Given the description of an element on the screen output the (x, y) to click on. 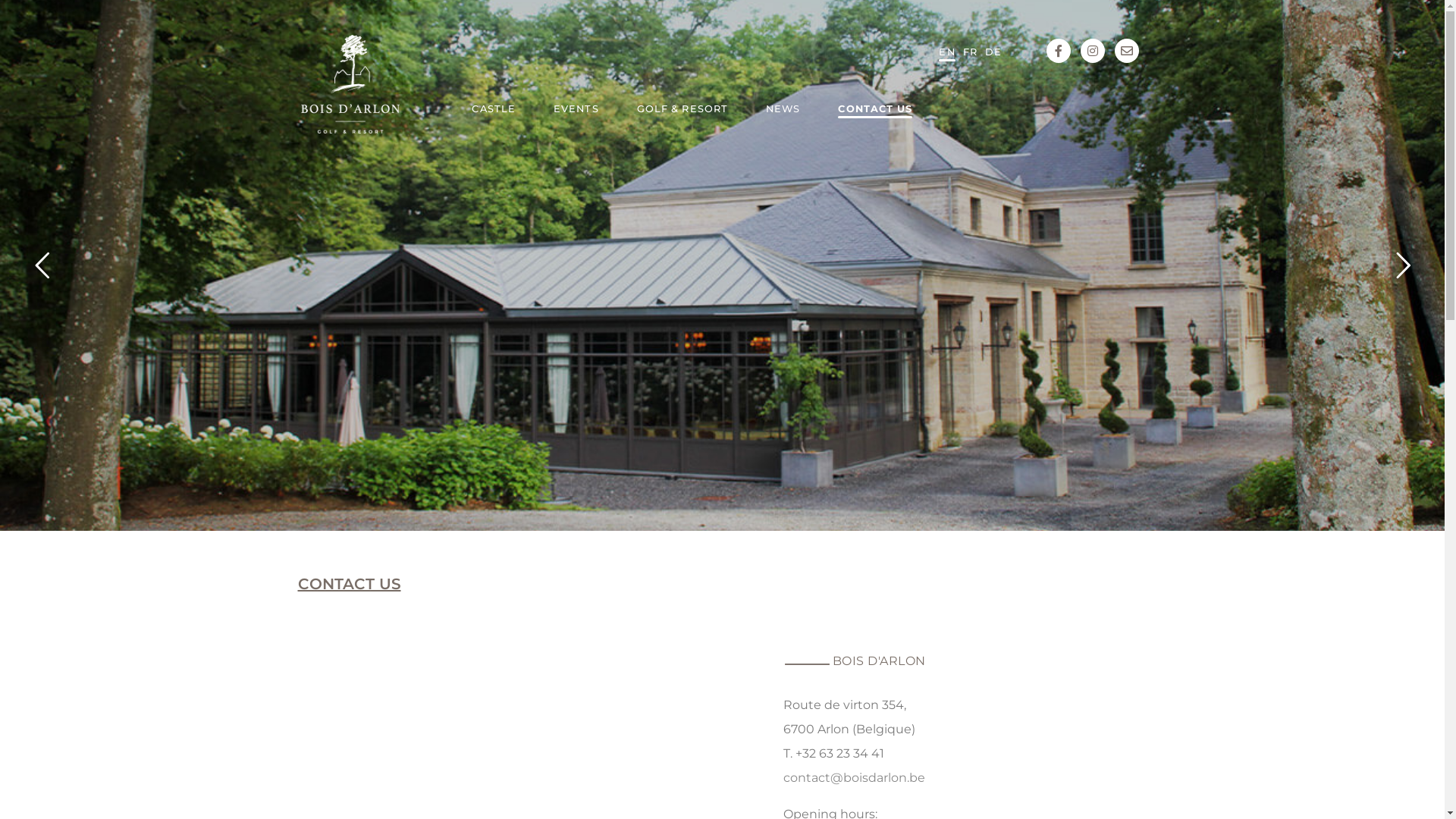
EN Element type: text (946, 51)
NEWS Element type: text (782, 110)
CONTACT US Element type: text (874, 110)
EVENTS Element type: text (576, 110)
FR Element type: text (970, 51)
CASTLE Element type: text (493, 110)
DE Element type: text (993, 51)
contact@boisdarlon.be Element type: text (853, 777)
GOLF & RESORT Element type: text (682, 110)
